Given the description of an element on the screen output the (x, y) to click on. 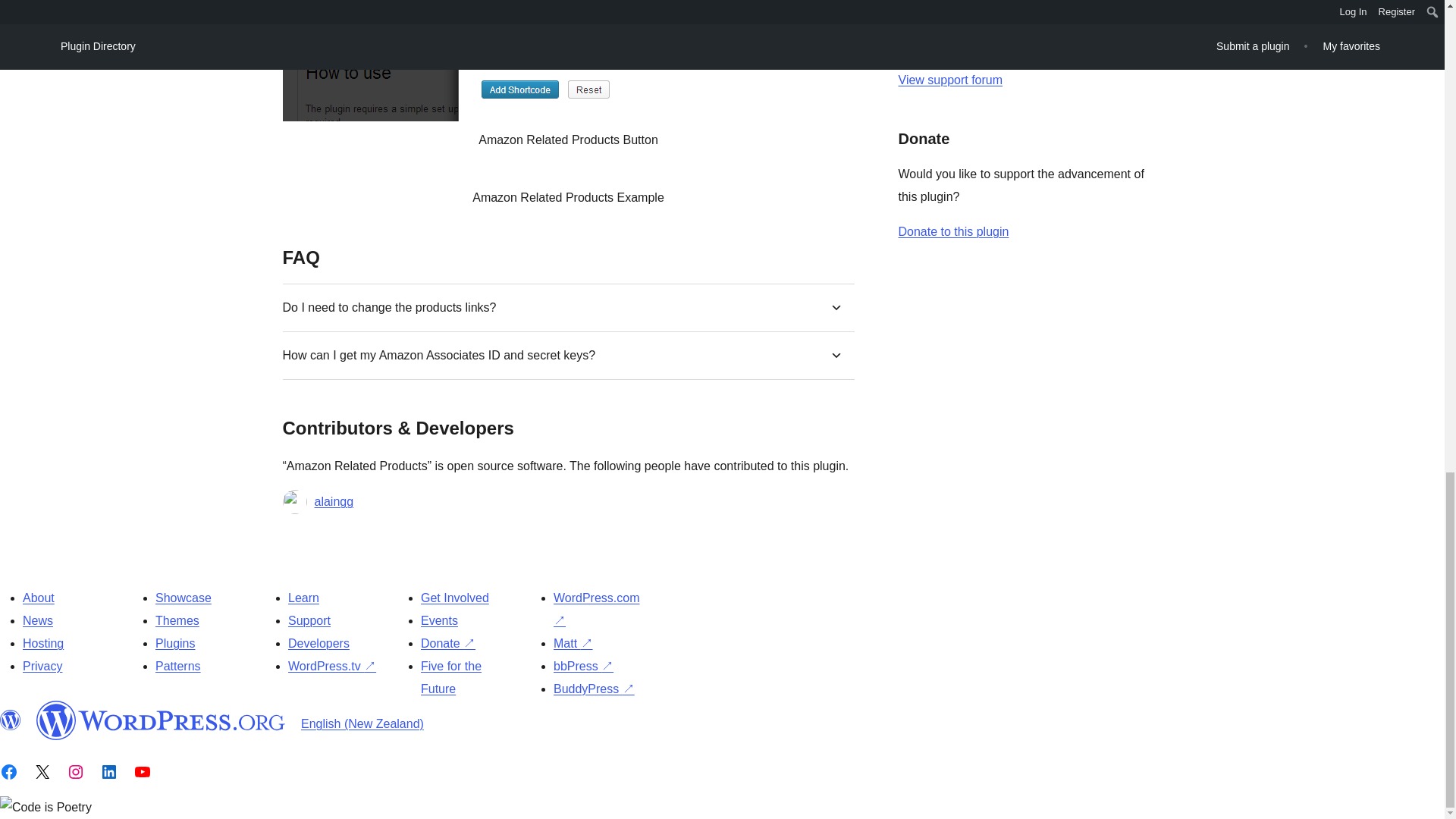
WordPress.org (160, 720)
alaingg (333, 501)
WordPress.org (10, 720)
